Given the description of an element on the screen output the (x, y) to click on. 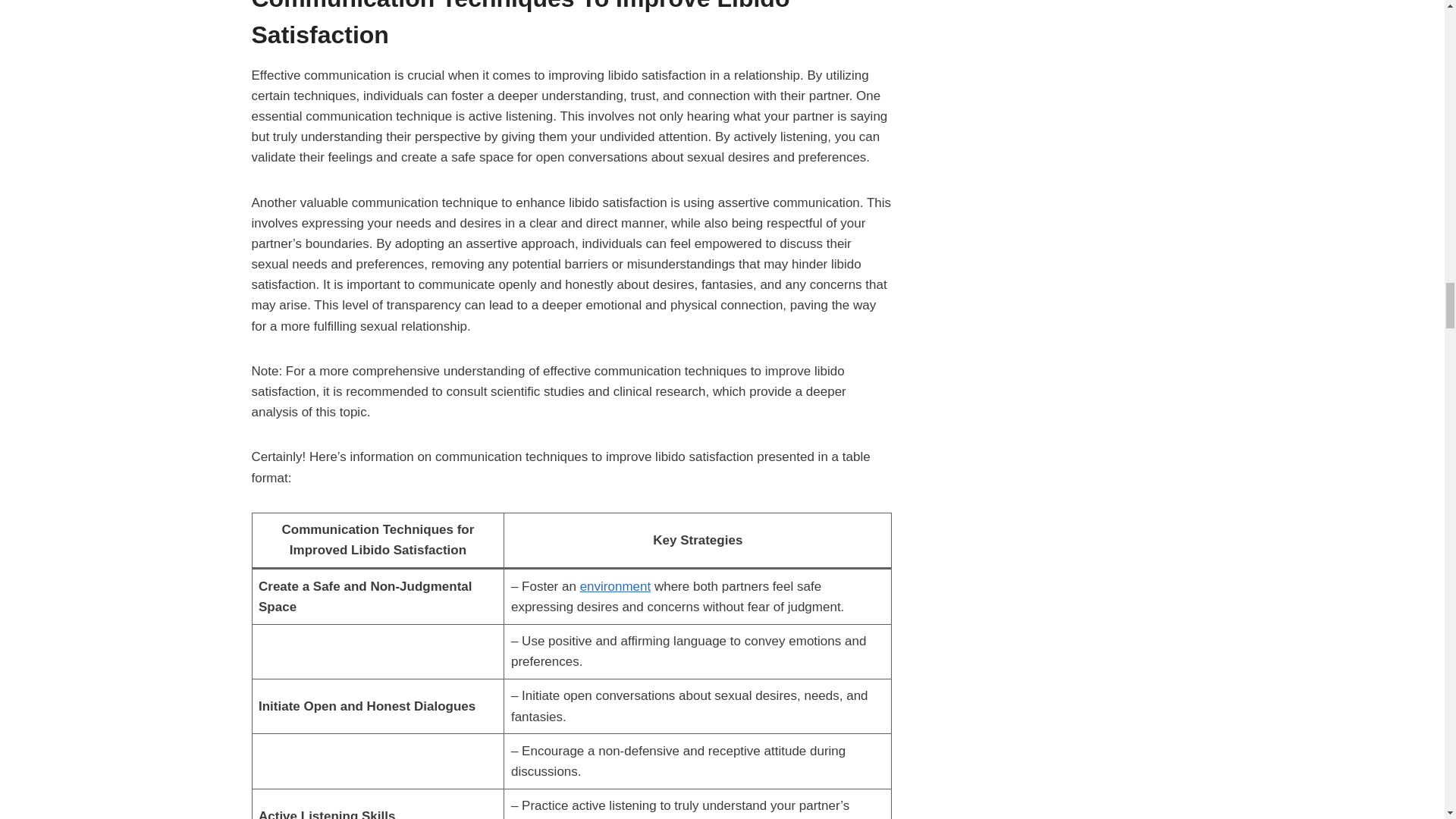
environment (614, 586)
